Given the description of an element on the screen output the (x, y) to click on. 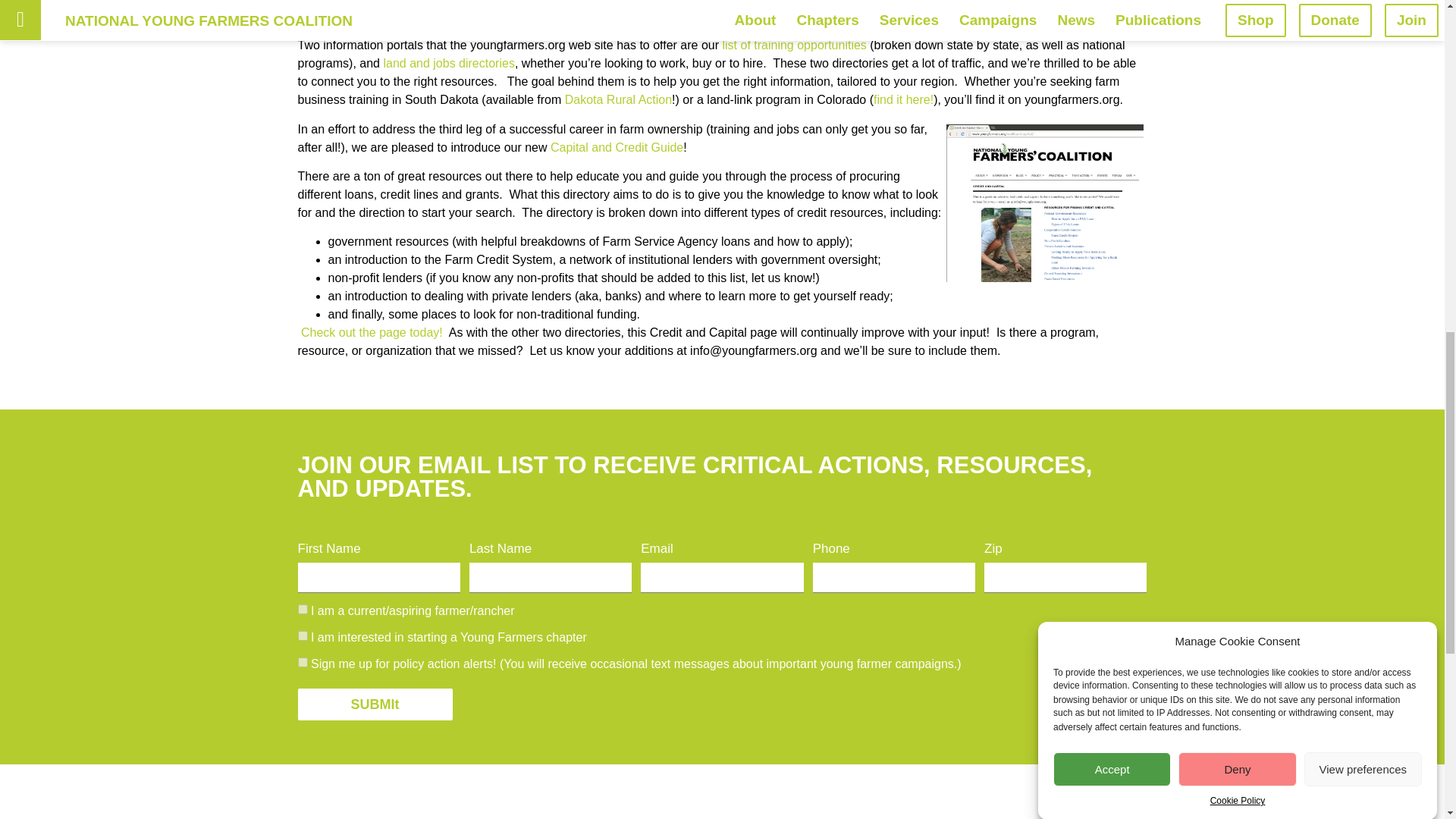
I am interested in starting a Young Farmers chapter (302, 635)
